Given the description of an element on the screen output the (x, y) to click on. 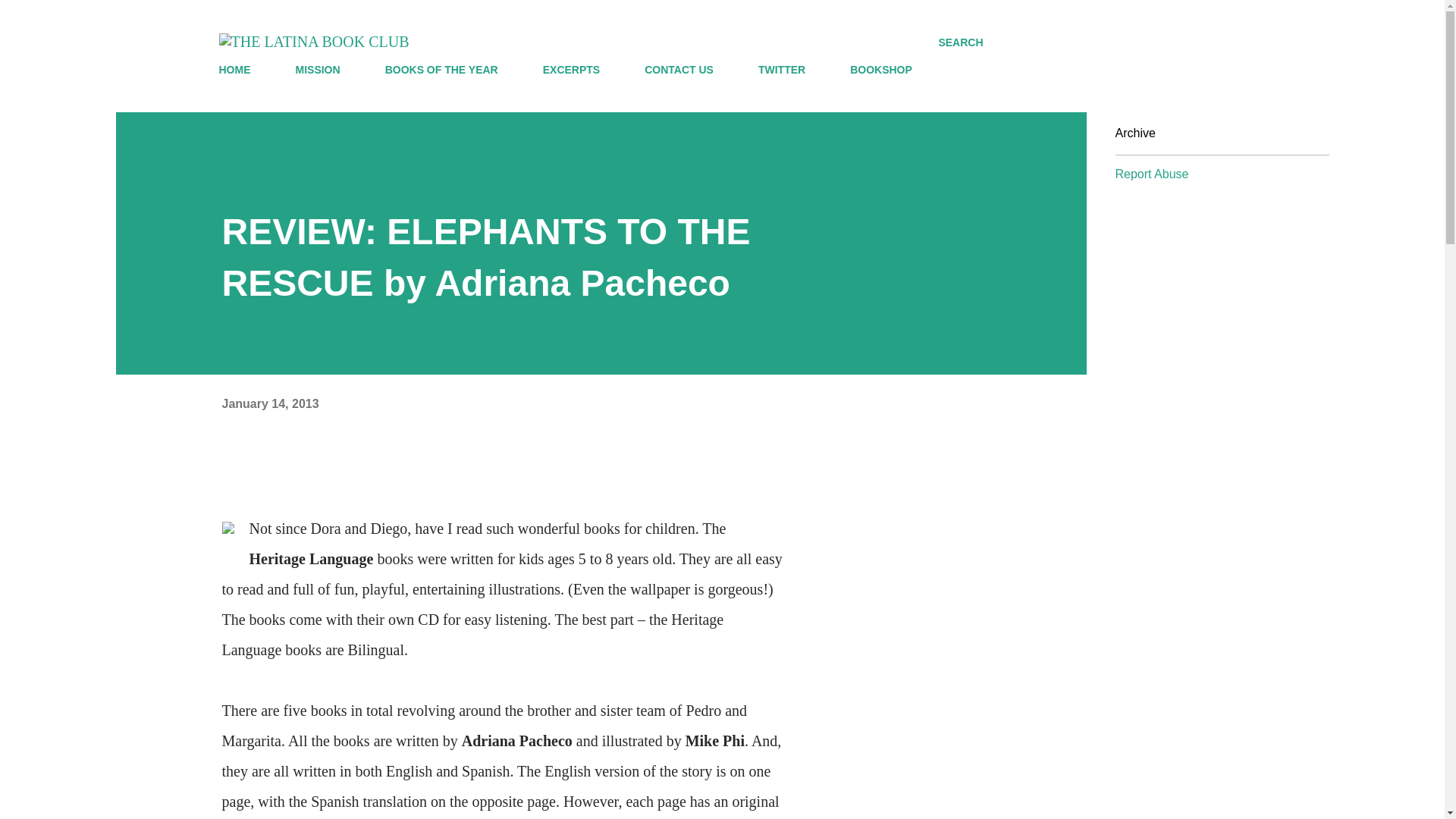
BOOKS OF THE YEAR (440, 69)
HOME (238, 69)
MISSION (317, 69)
permanent link (269, 403)
SEARCH (959, 42)
TWITTER (781, 69)
January 14, 2013 (269, 403)
BOOKSHOP (881, 69)
CONTACT US (678, 69)
EXCERPTS (571, 69)
